Given the description of an element on the screen output the (x, y) to click on. 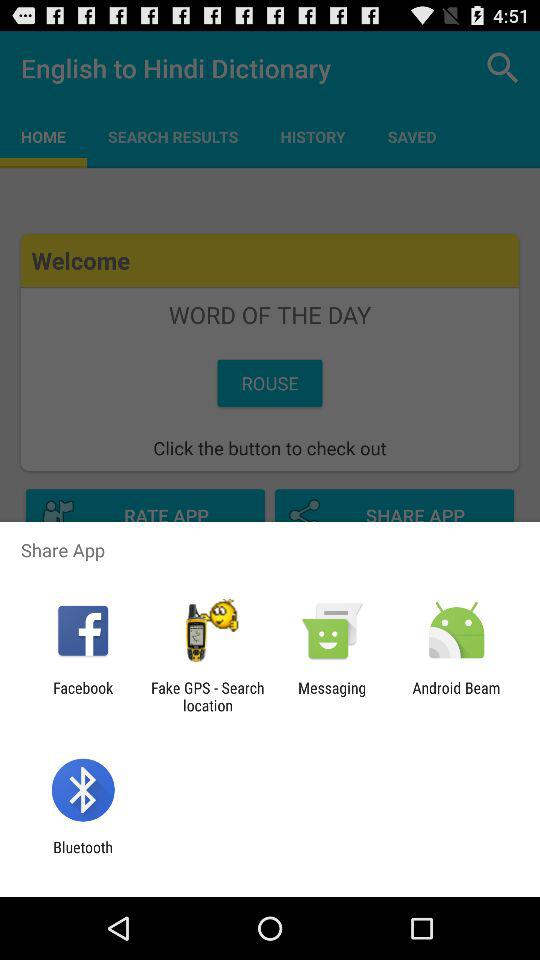
launch bluetooth icon (82, 856)
